Given the description of an element on the screen output the (x, y) to click on. 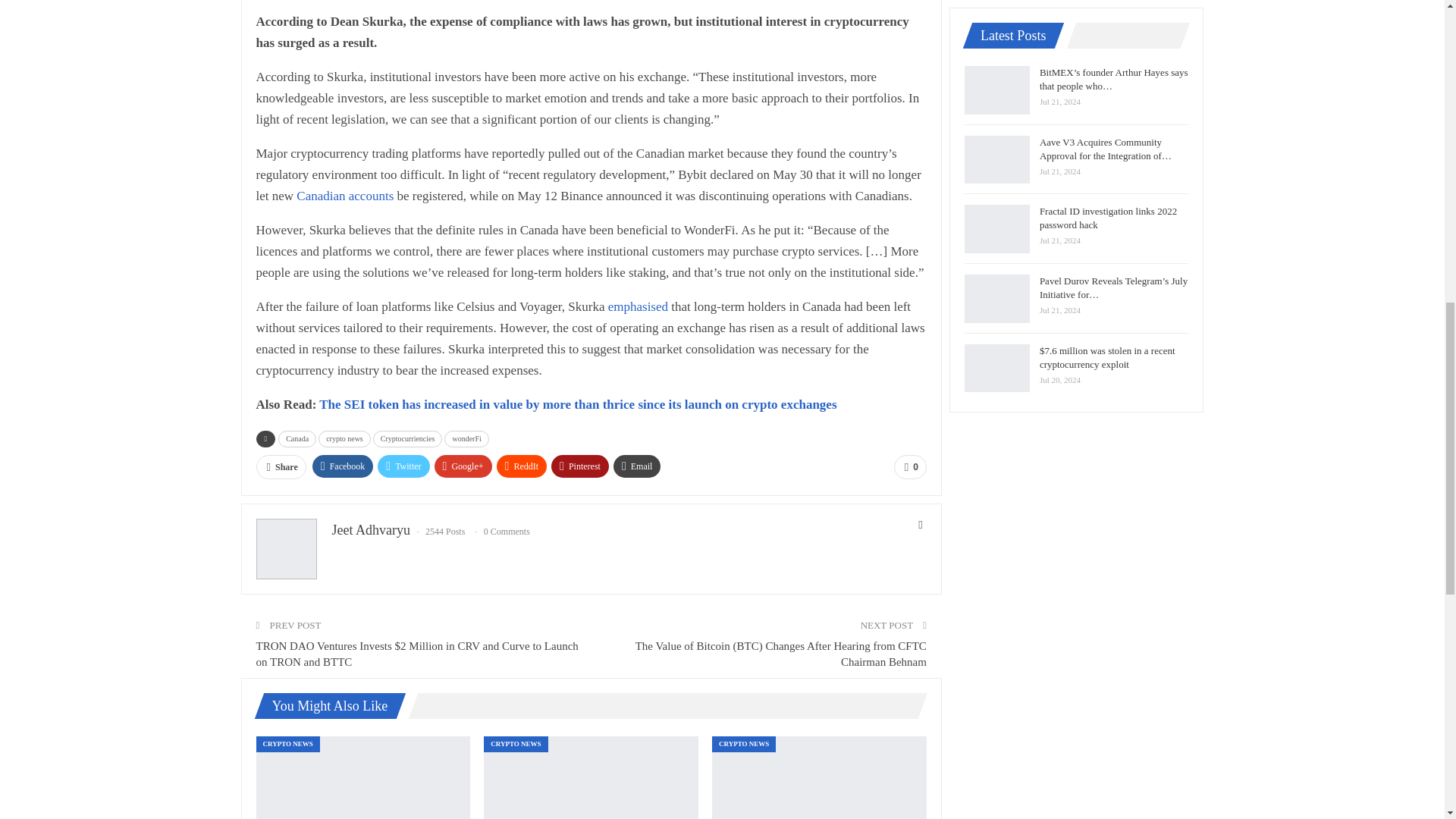
Canadian accounts (345, 196)
emphasised (638, 306)
Fractal ID investigation links 2022 password hack (590, 777)
